Given the description of an element on the screen output the (x, y) to click on. 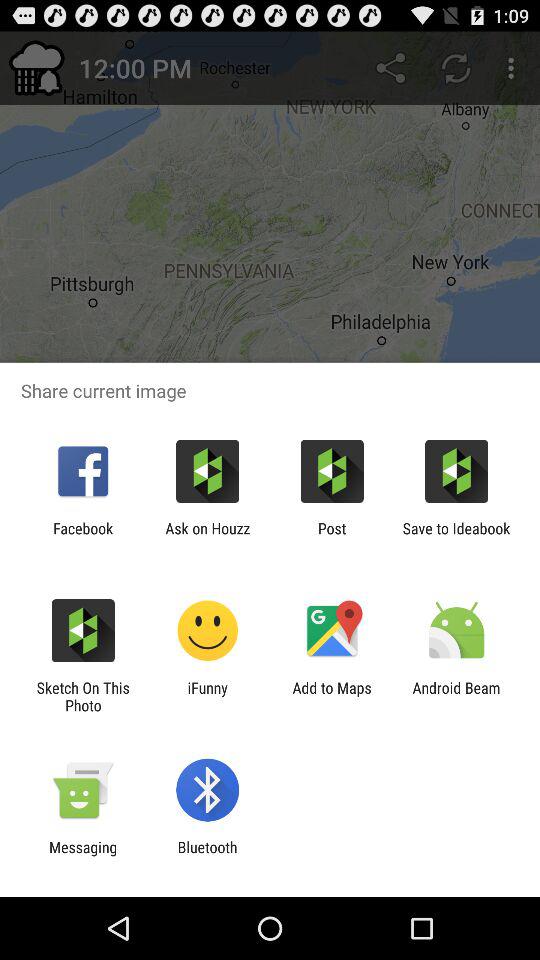
tap app next to ifunny icon (83, 696)
